Given the description of an element on the screen output the (x, y) to click on. 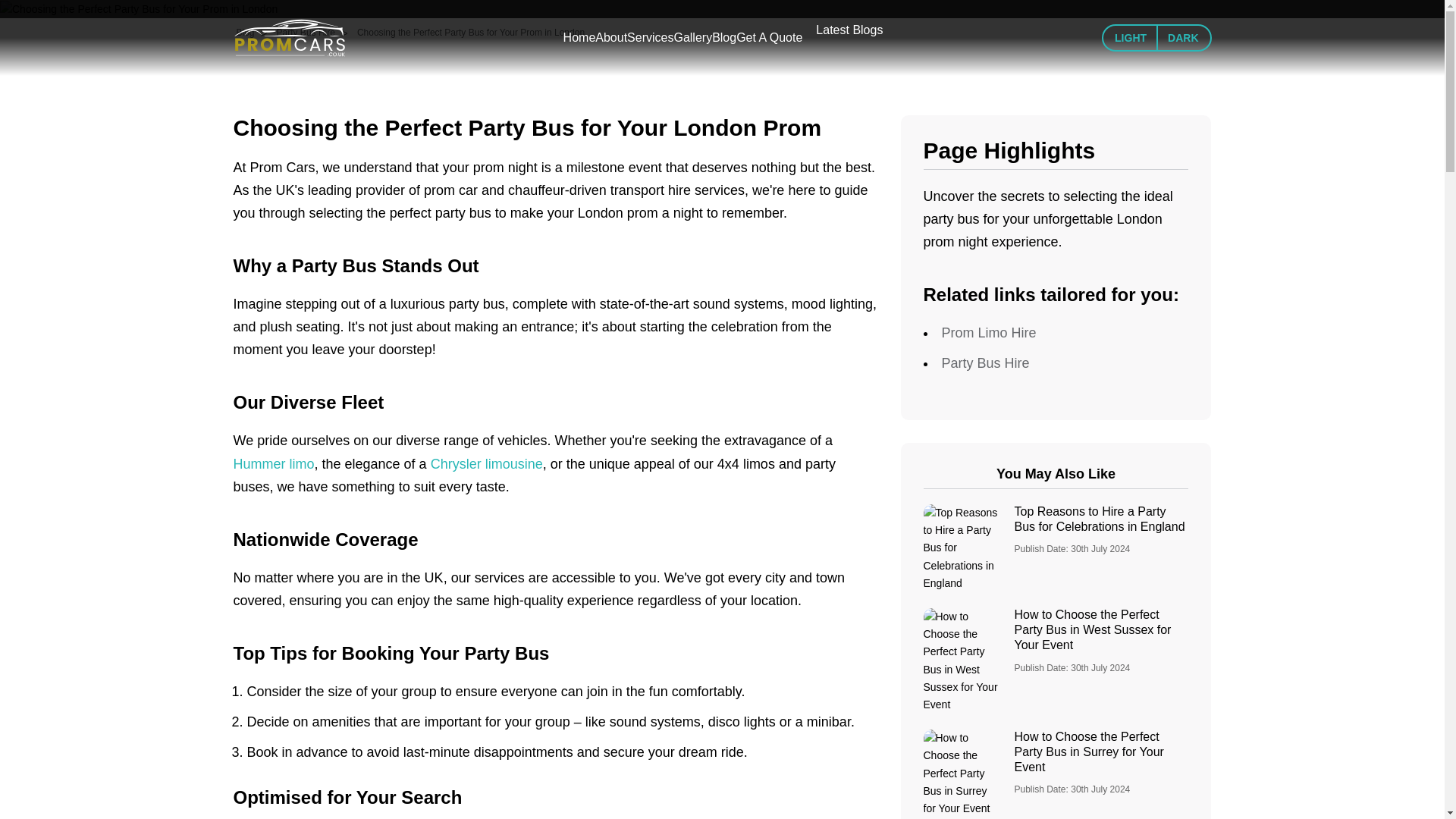
Prom Cars (304, 37)
Latest Blogs (848, 30)
Get A Quote (769, 37)
Get A Quote (769, 37)
Prom Cars logo (289, 37)
Latest Blogs (848, 30)
